Given the description of an element on the screen output the (x, y) to click on. 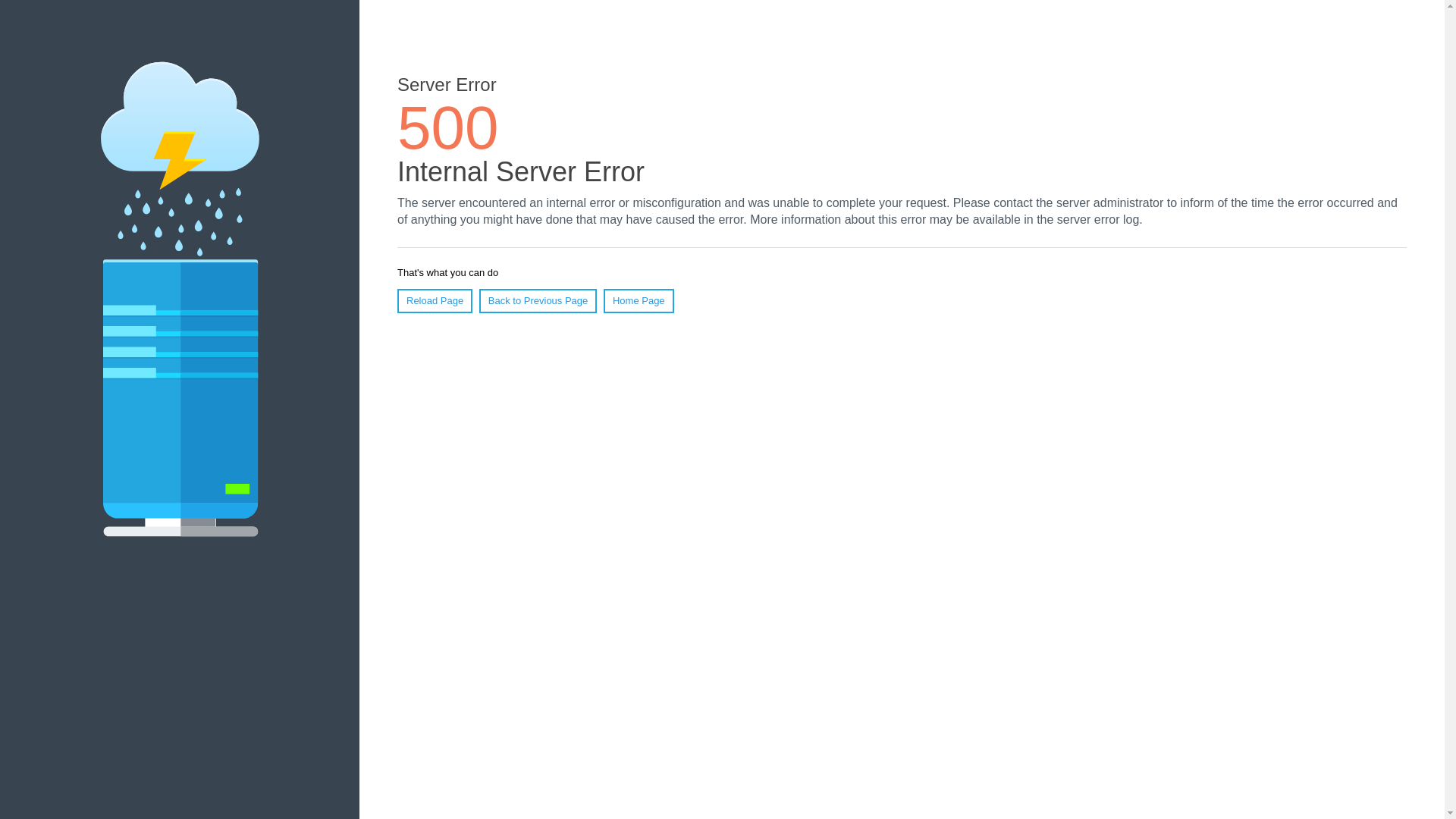
Reload Page (434, 300)
Back to Previous Page (537, 300)
Home Page (639, 300)
